Given the description of an element on the screen output the (x, y) to click on. 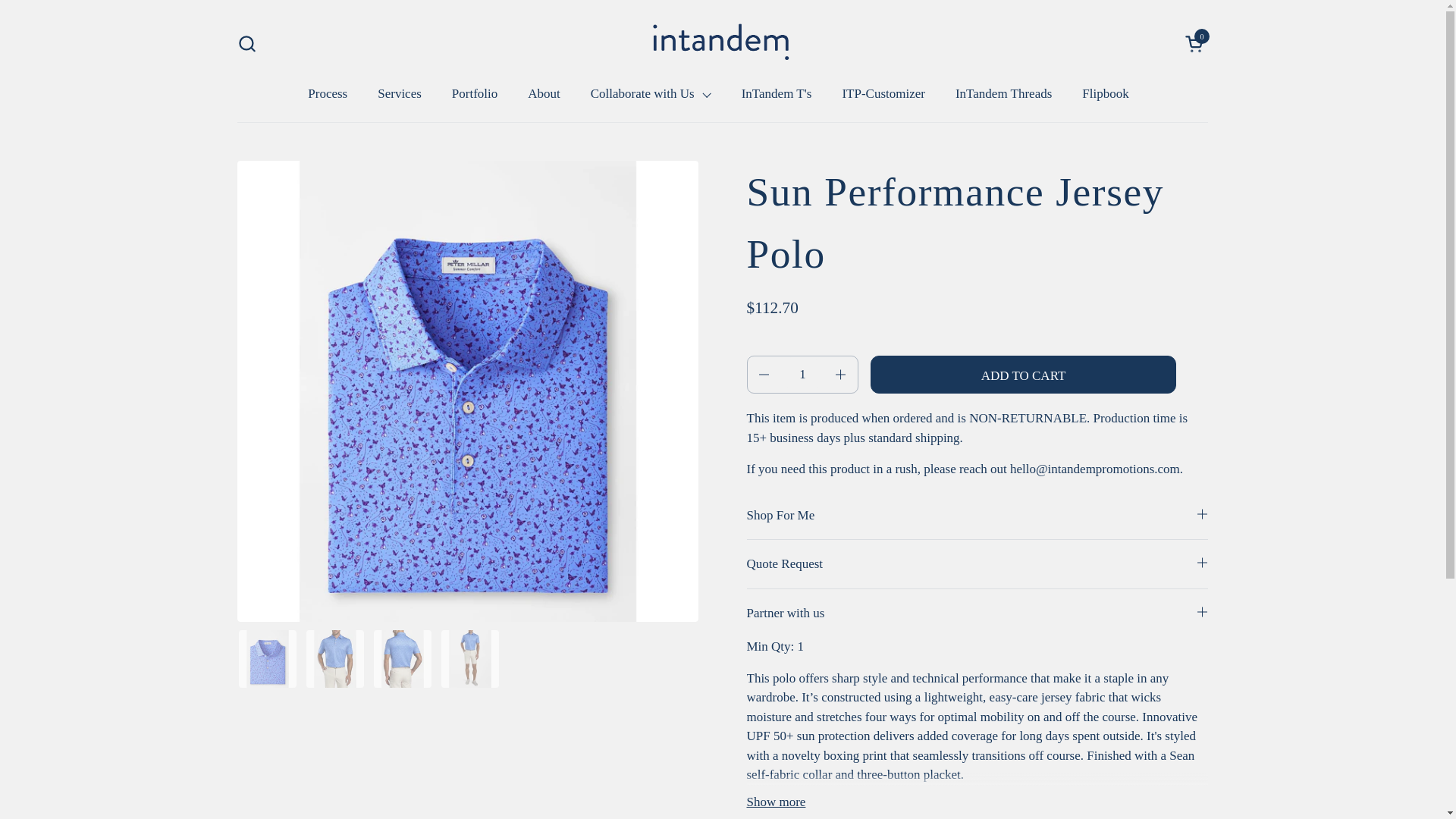
Open cart (1196, 43)
About (543, 93)
InTandem Threads (1196, 43)
Services (1003, 93)
ITP-Customizer (399, 93)
InTandem T's (883, 93)
Process (776, 93)
Collaborate with Us (327, 93)
Skip to content (650, 93)
Open search (1104, 93)
Portfolio (245, 43)
InTandem Promotions  (474, 93)
